Given the description of an element on the screen output the (x, y) to click on. 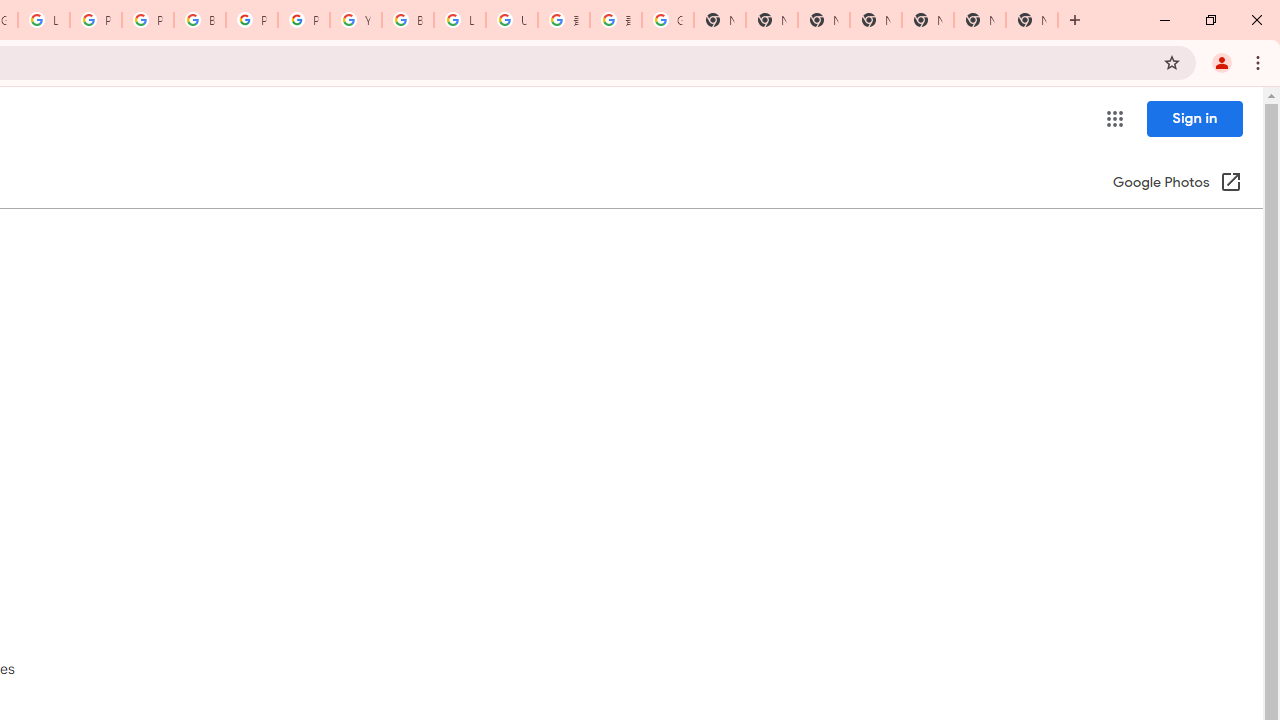
New Tab (1032, 20)
Google Images (667, 20)
